Given the description of an element on the screen output the (x, y) to click on. 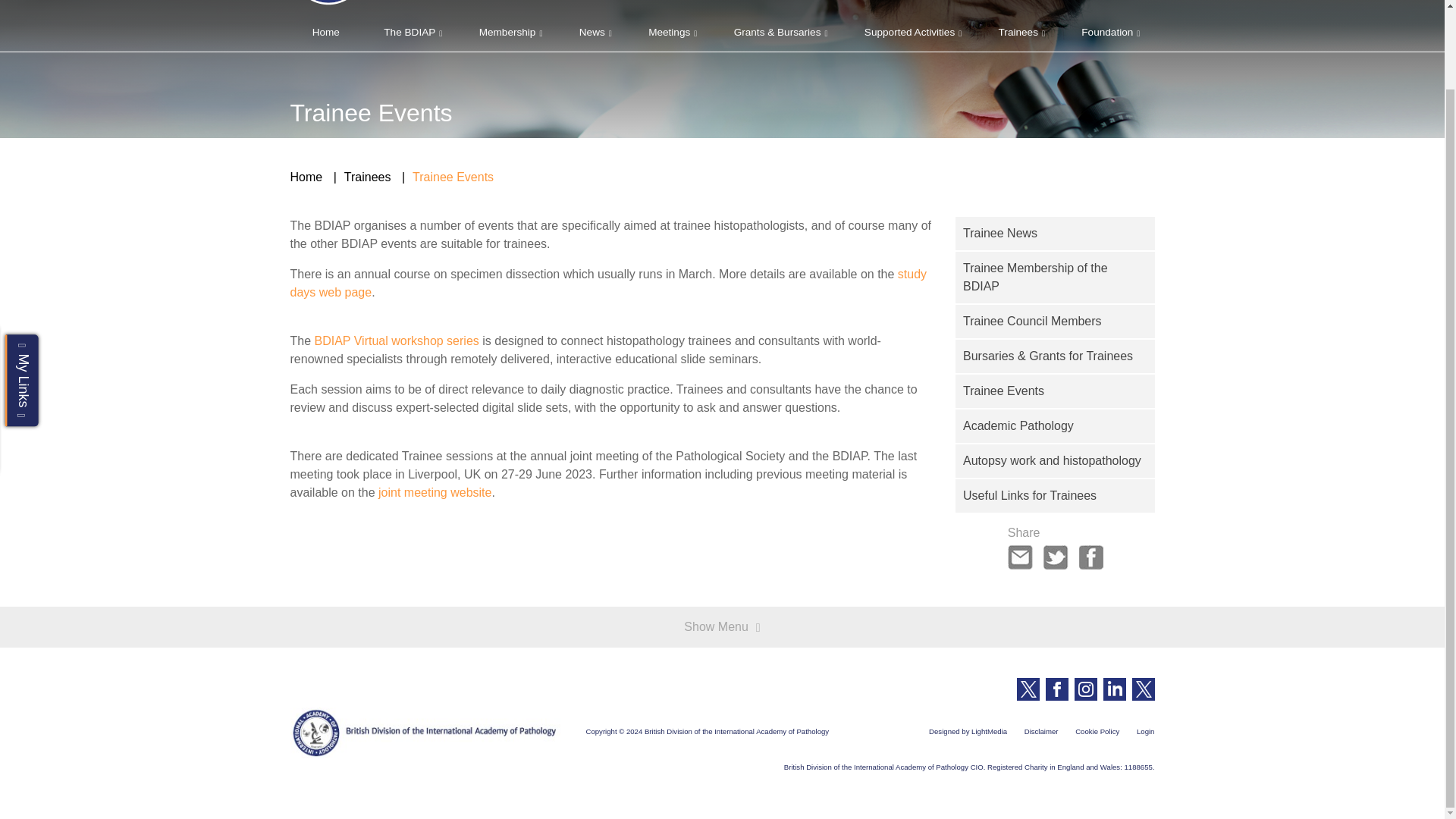
BDIAP Twitter (1027, 688)
Home (325, 32)
The BDIAP (409, 32)
Share by Email (1020, 555)
LinkedIn (1113, 688)
Membership (506, 32)
Share on Facebook (1090, 555)
Meetings (668, 32)
Histopathology Twitter (1142, 688)
Share on Twitter (1055, 555)
